Given the description of an element on the screen output the (x, y) to click on. 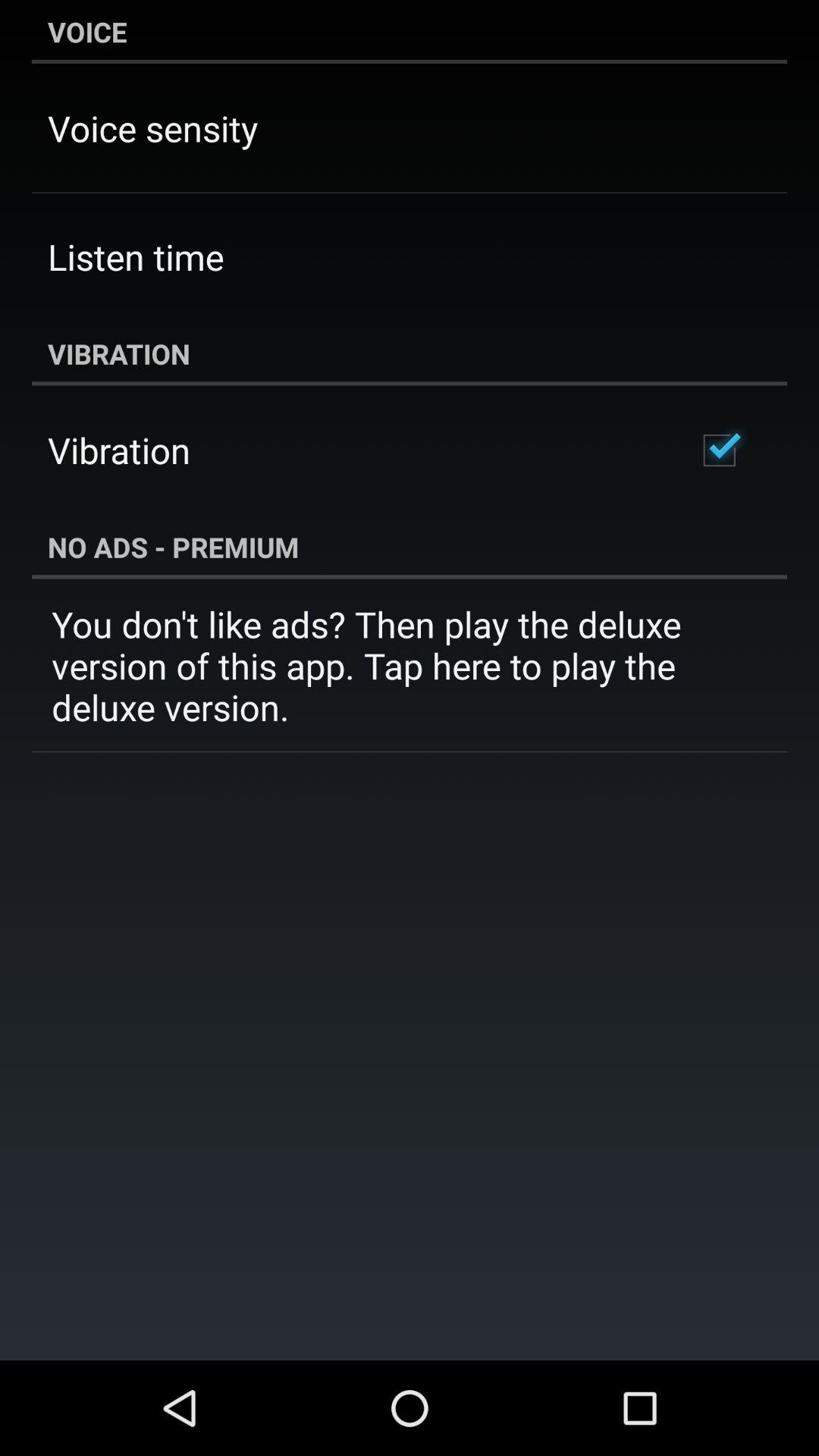
click listen time item (135, 256)
